Given the description of an element on the screen output the (x, y) to click on. 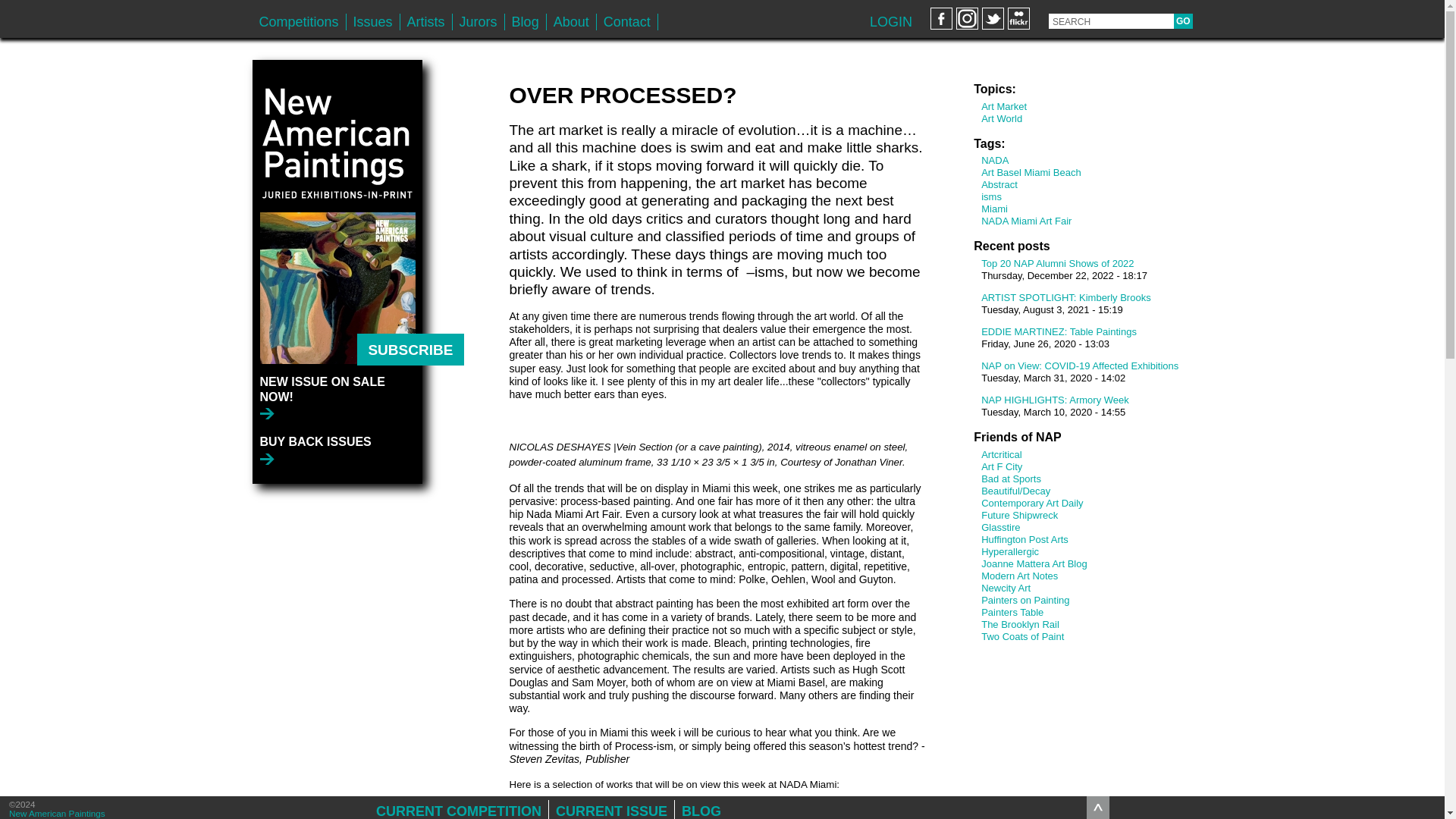
LOGIN (890, 21)
Issues (372, 21)
Blog (525, 21)
Subscribe (409, 349)
NEW ISSUE ON SALE NOW! (340, 396)
Go (1182, 20)
Blog (525, 21)
Artists (425, 21)
Issues (372, 21)
Contact (627, 21)
New American Paintings (336, 135)
Competitions (298, 21)
BUY BACK ISSUES (315, 449)
New issue on sale now! (340, 396)
About (571, 21)
